Given the description of an element on the screen output the (x, y) to click on. 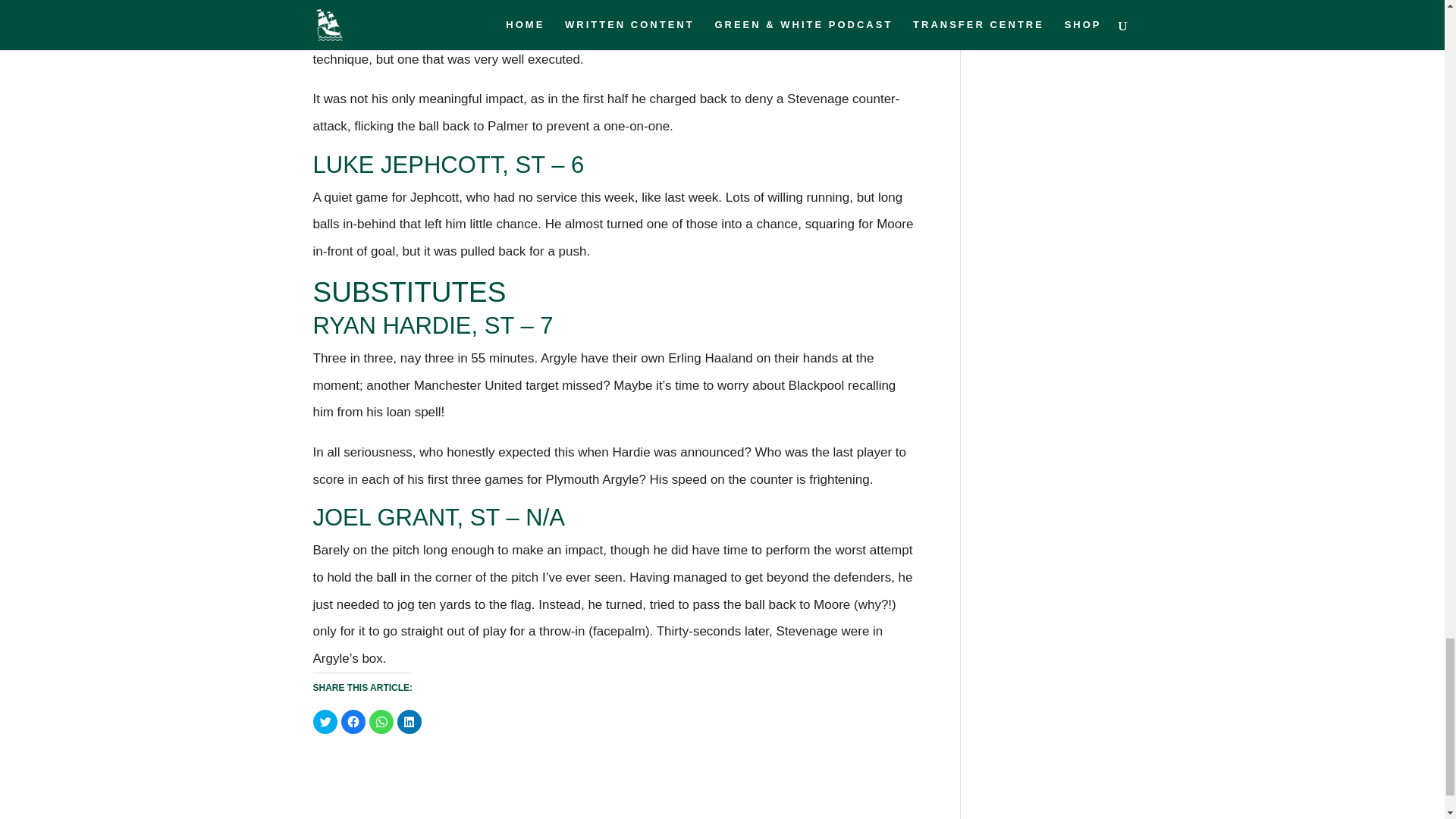
Click to share on LinkedIn (409, 721)
Click to share on Twitter (324, 721)
Click to share on Facebook (352, 721)
Click to share on WhatsApp (380, 721)
